Given the description of an element on the screen output the (x, y) to click on. 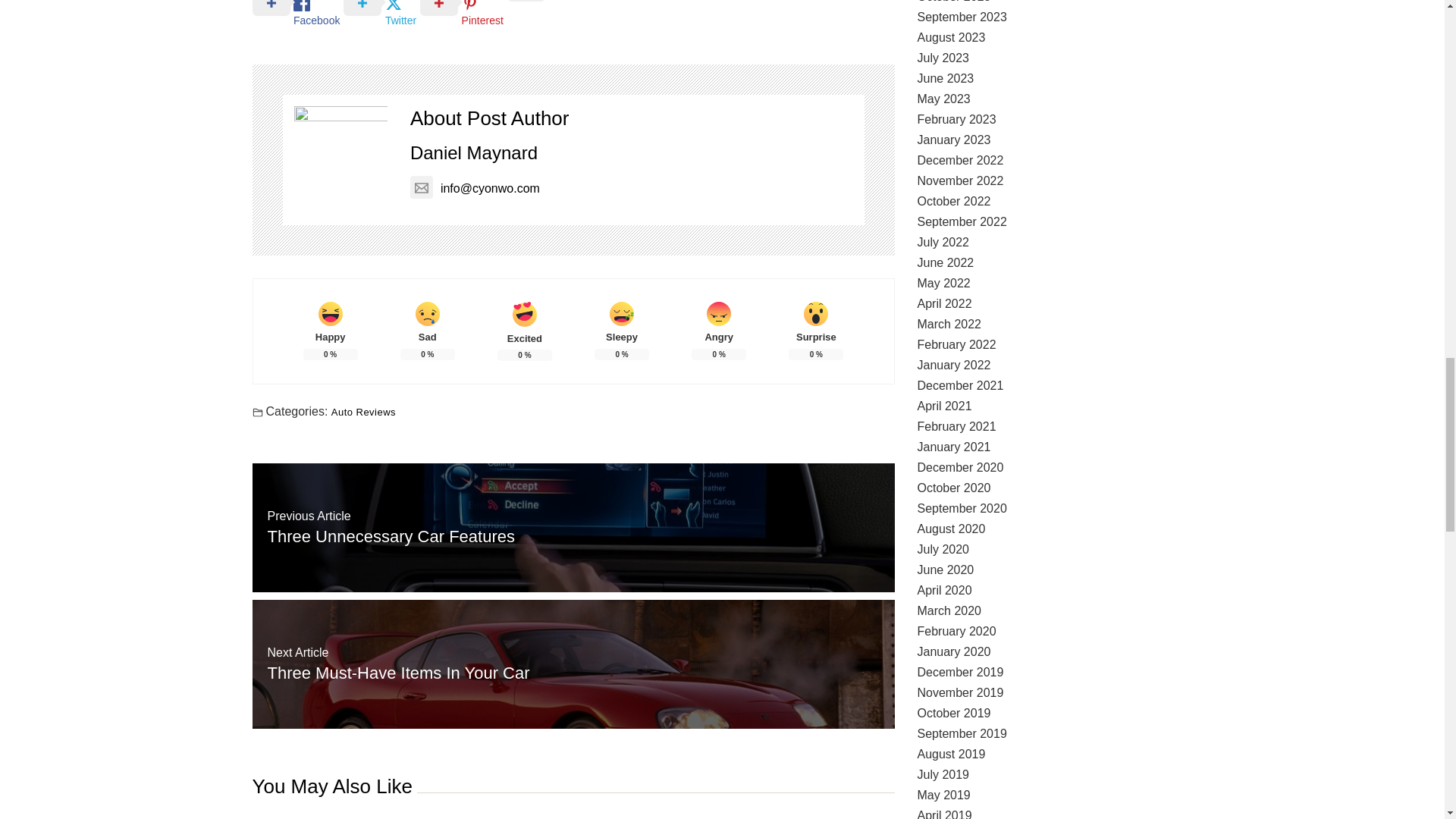
Facebook (297, 14)
Daniel Maynard (473, 140)
Twitter (381, 14)
Pinterest (463, 14)
